Given the description of an element on the screen output the (x, y) to click on. 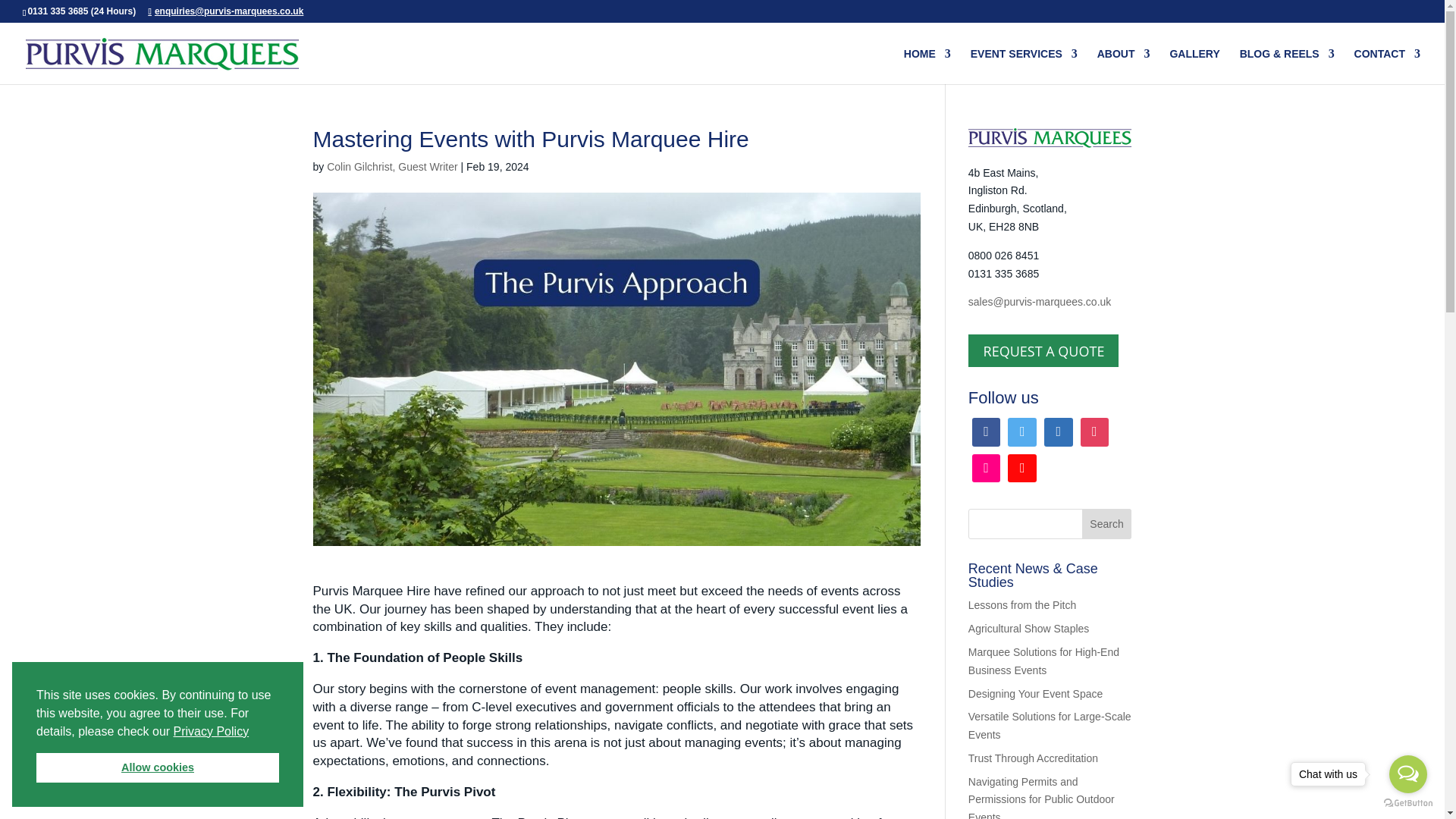
Default Label (986, 468)
Facebook (986, 432)
Twitter (1022, 432)
HOME (927, 66)
Default Label (1059, 432)
Search (1106, 523)
EVENT SERVICES (1024, 66)
Posts by Colin Gilchrist, Guest Writer (391, 166)
Default Label (1095, 432)
Privacy Policy (210, 730)
Allow cookies (157, 767)
Pinterest (1022, 468)
